Given the description of an element on the screen output the (x, y) to click on. 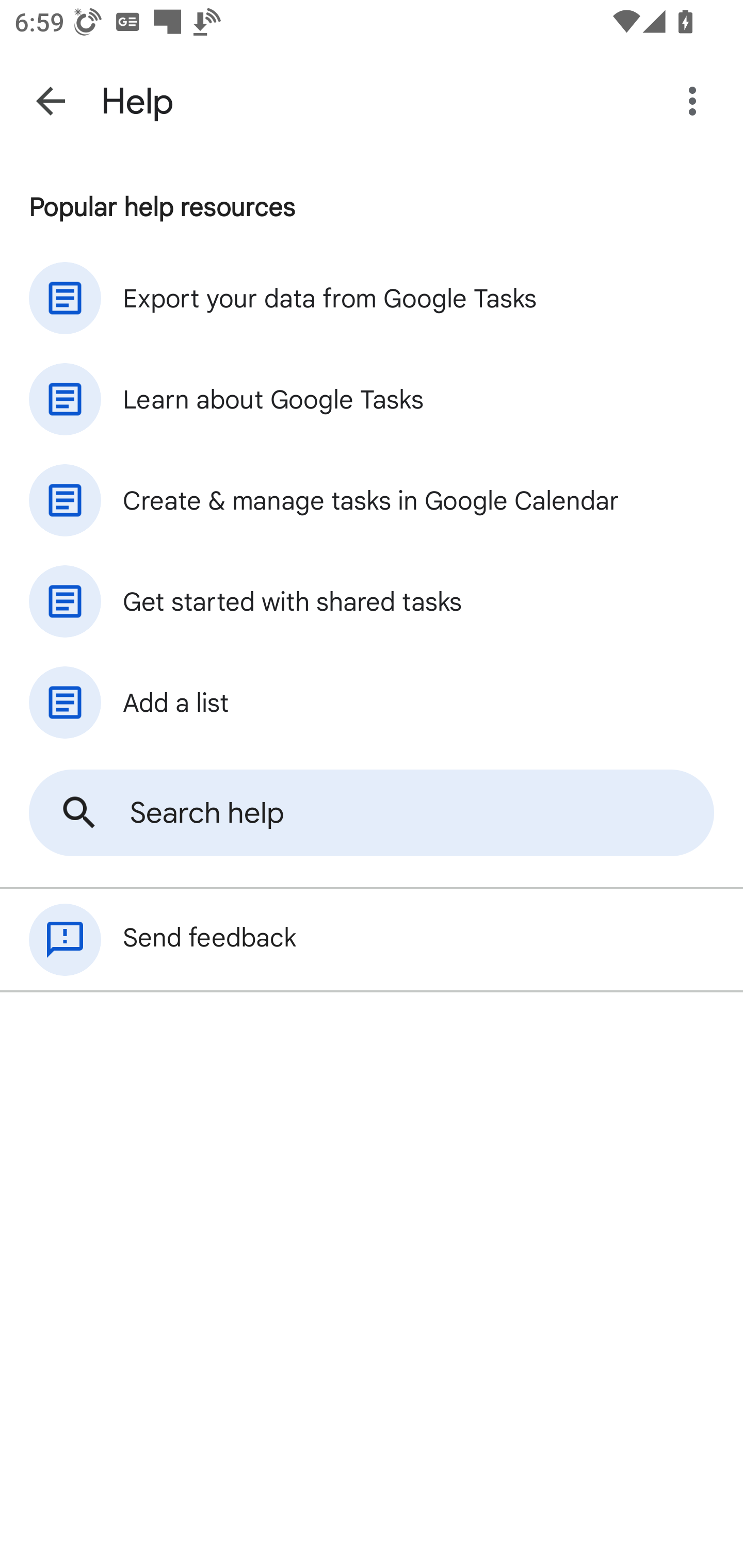
Navigate up (50, 101)
More options (696, 101)
Export your data from Google Tasks (371, 297)
Learn about Google Tasks (371, 399)
Create & manage tasks in Google Calendar (371, 500)
Get started with shared tasks (371, 601)
Add a list (371, 702)
Search help (371, 812)
Send feedback (371, 939)
